Given the description of an element on the screen output the (x, y) to click on. 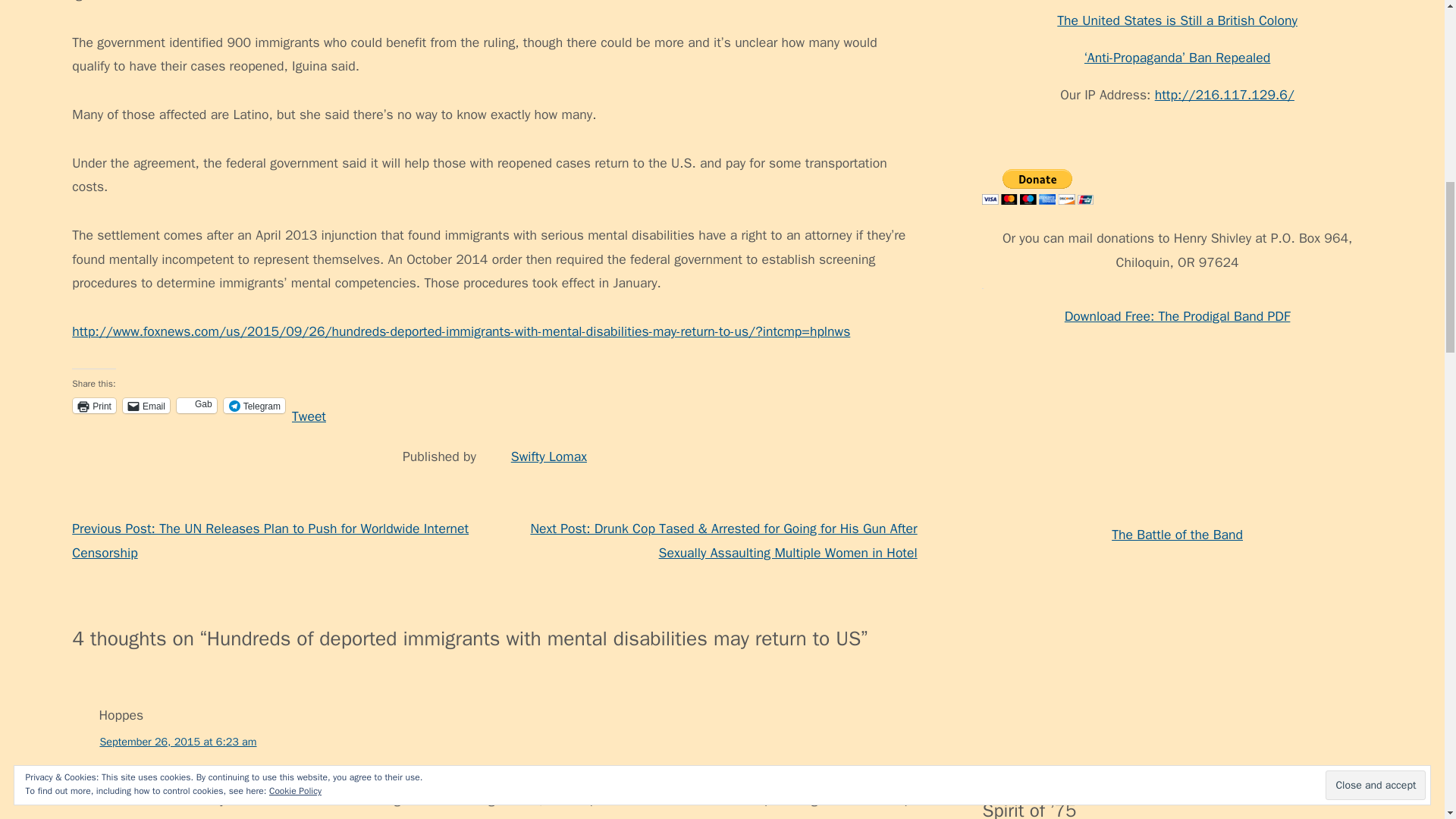
Telegram (254, 405)
Gab (196, 405)
Tweet (309, 404)
porno (997, 515)
Click to share on Gab (196, 405)
Print (94, 405)
Click to email a link to a friend (146, 405)
Email (146, 405)
Click to share on Telegram (254, 405)
Click to print (94, 405)
